Given the description of an element on the screen output the (x, y) to click on. 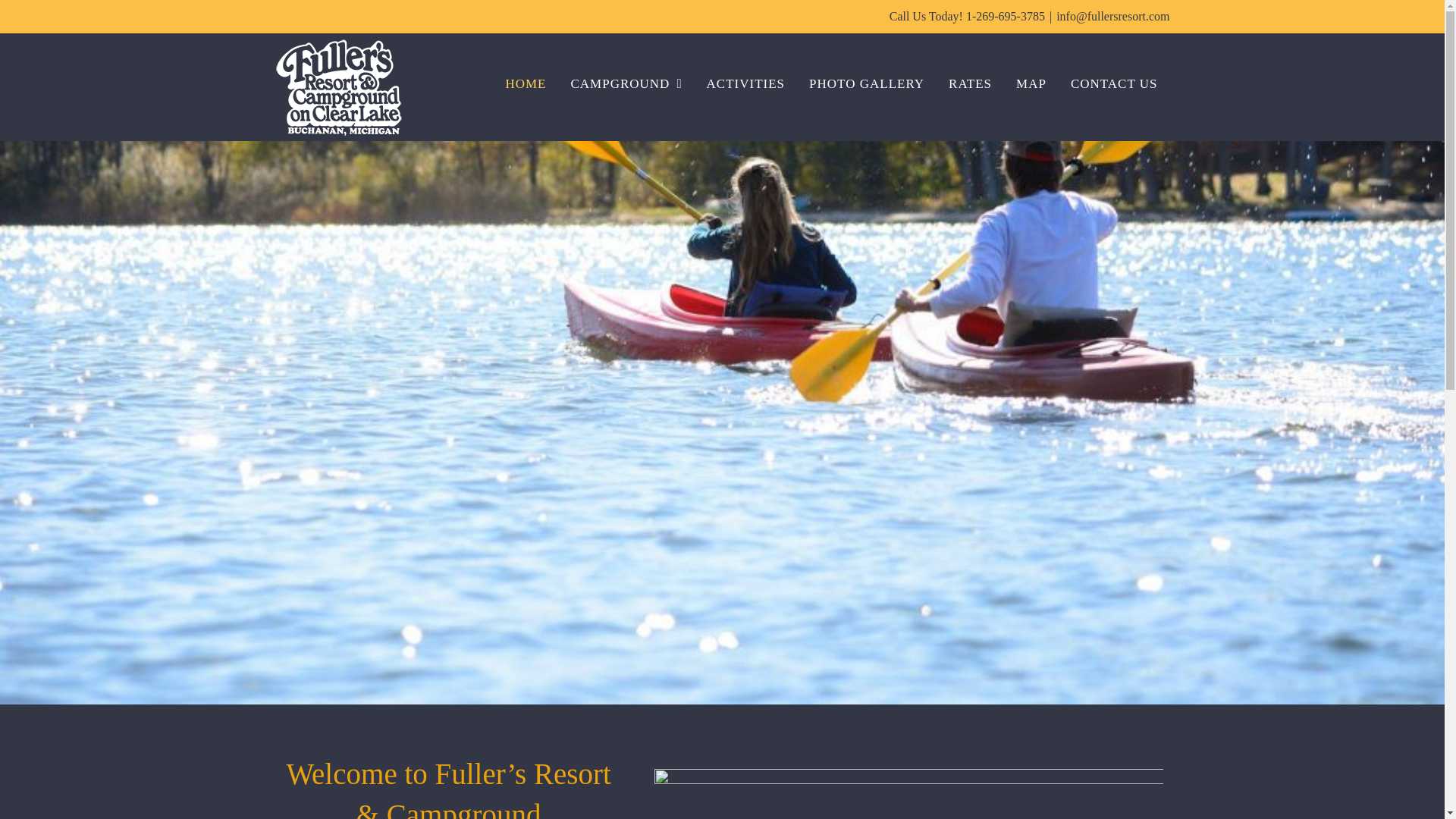
PHOTO GALLERY (866, 83)
CONTACT US (1114, 83)
ACTIVITIES (745, 83)
CAMPGROUND (625, 83)
Fullers (908, 794)
